Given the description of an element on the screen output the (x, y) to click on. 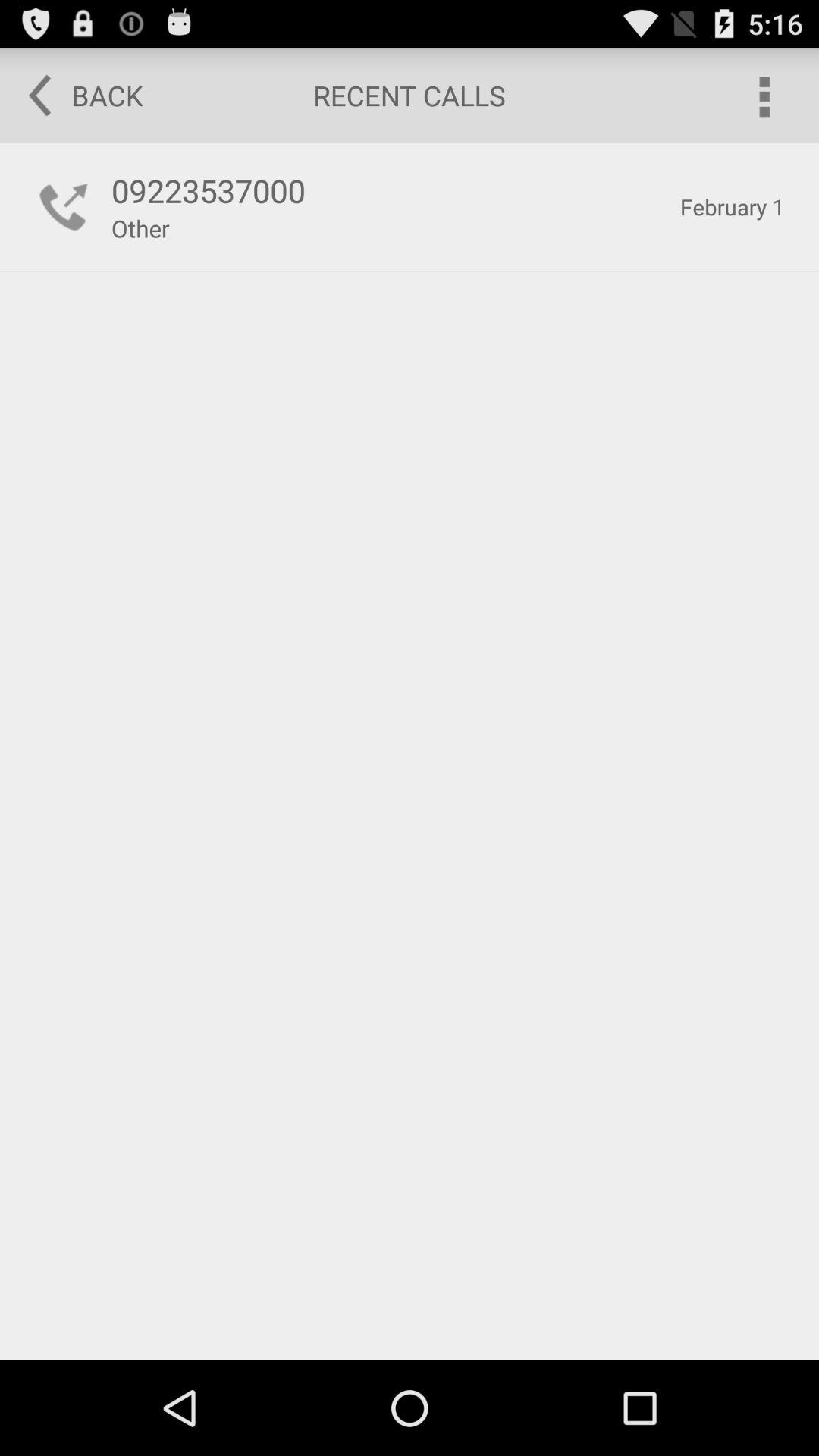
tap app to the left of the february 1 (387, 190)
